Given the description of an element on the screen output the (x, y) to click on. 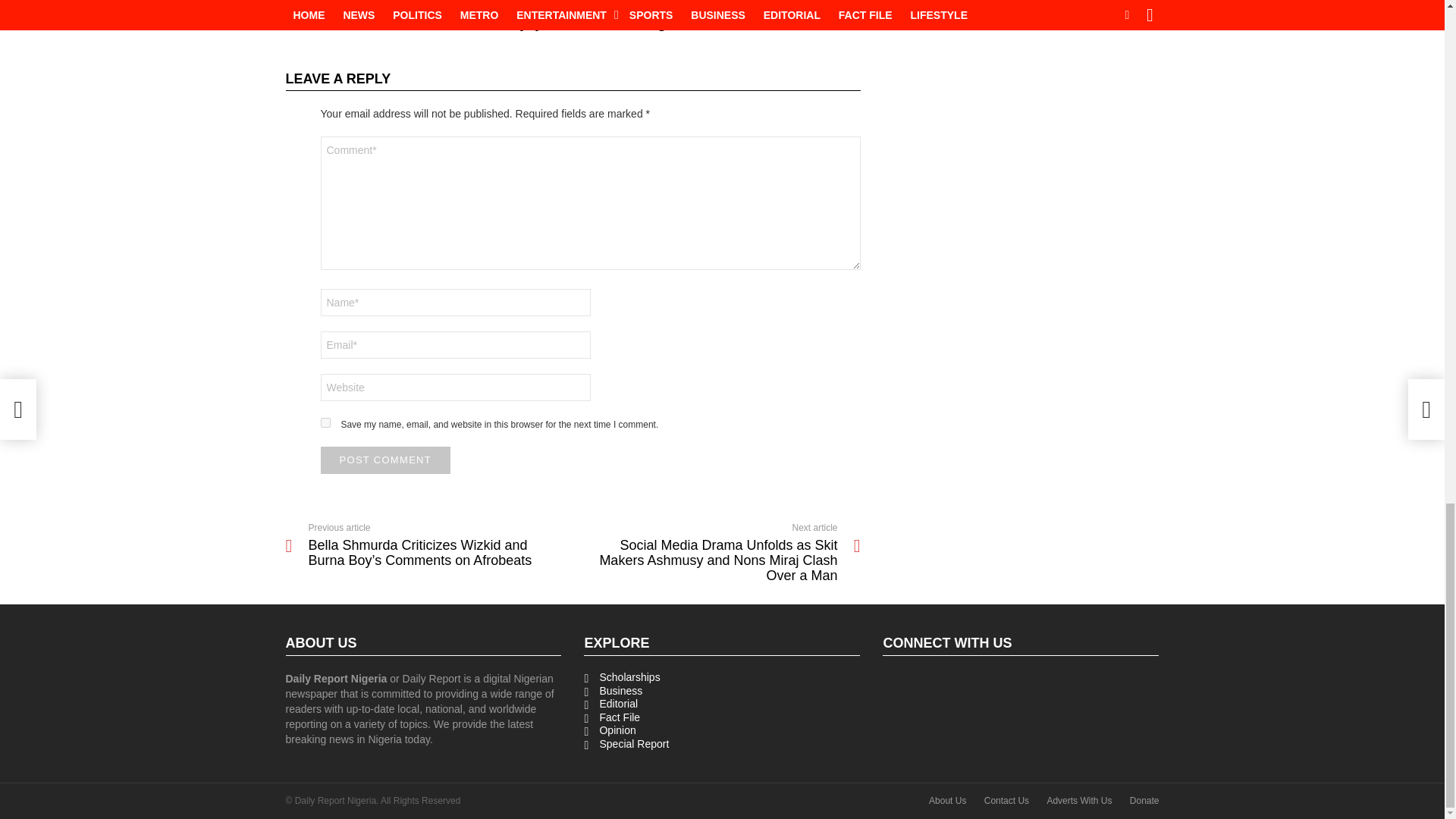
yes (325, 422)
Post Comment (384, 460)
